Given the description of an element on the screen output the (x, y) to click on. 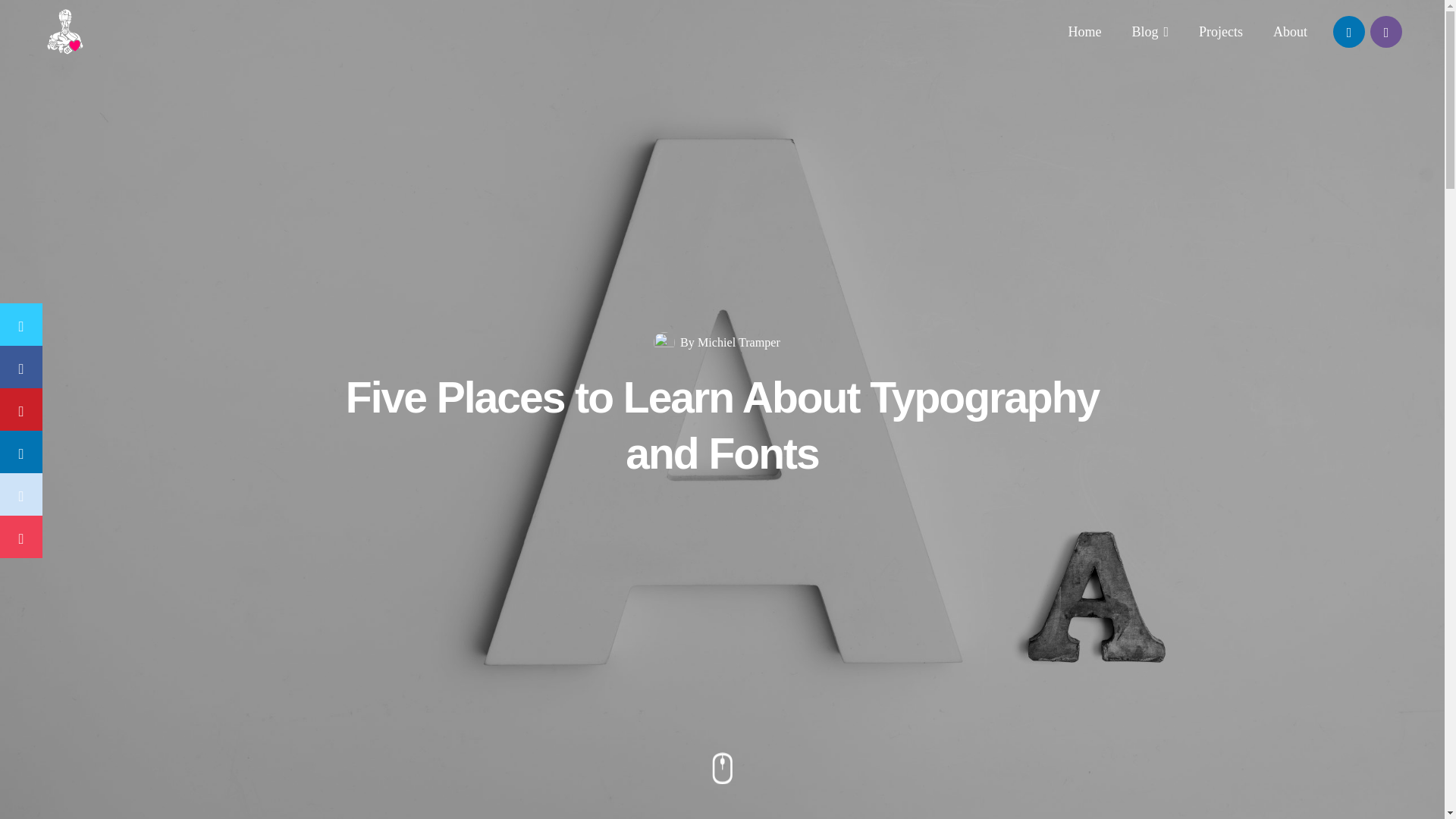
Blog (1149, 31)
Save on Pinterest (21, 409)
Linkedin (1349, 31)
Share on LinkedIn (21, 451)
Share on Facebook (21, 366)
Share on Twitter (21, 324)
Share on Reddit (21, 494)
Github (1386, 31)
Home (1084, 31)
About (1289, 31)
